Given the description of an element on the screen output the (x, y) to click on. 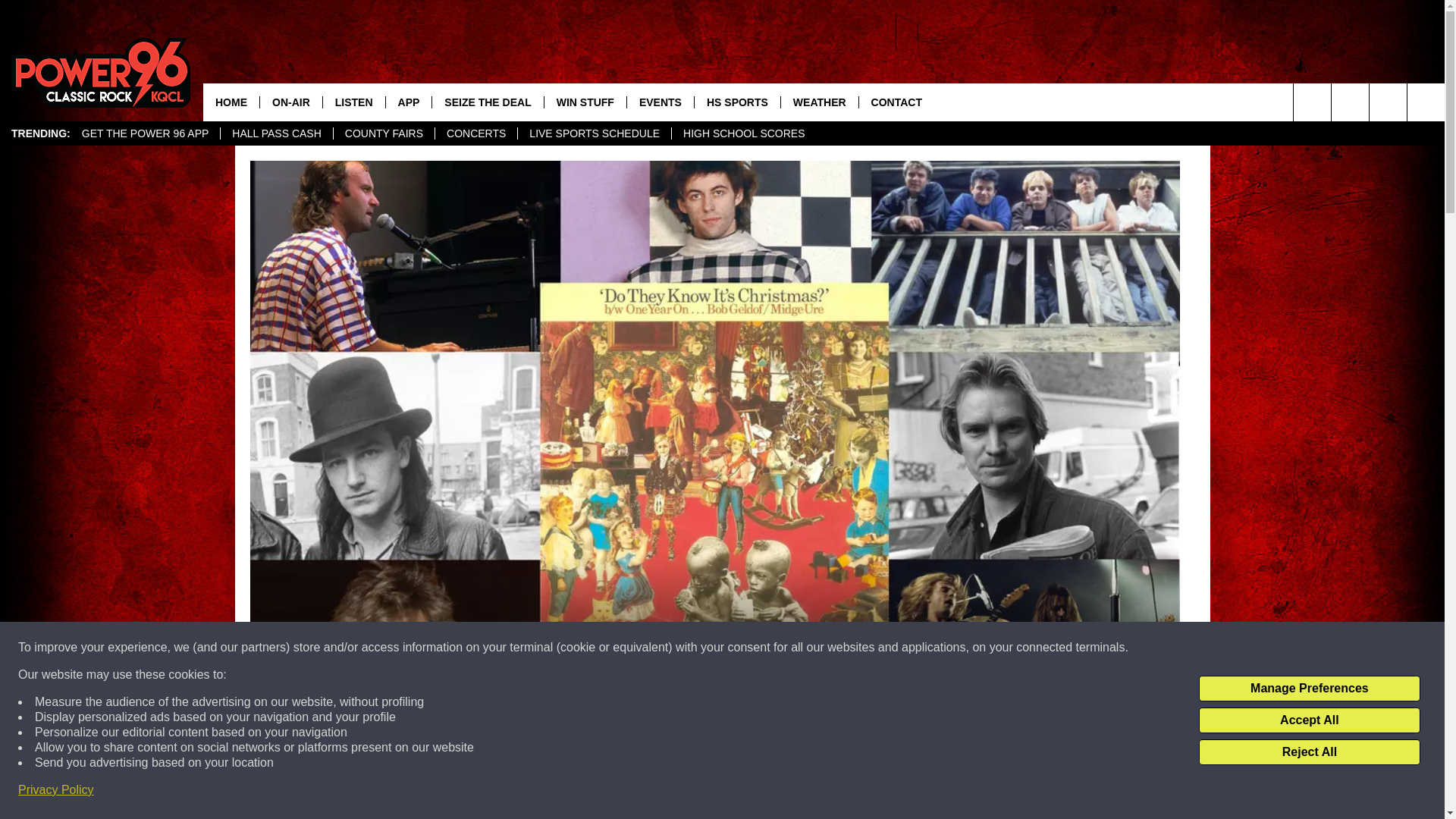
COUNTY FAIRS (383, 133)
CONCERTS (474, 133)
Accept All (1309, 720)
WIN STUFF (584, 102)
APP (408, 102)
GET THE POWER 96 APP (145, 133)
LIVE SPORTS SCHEDULE (593, 133)
EVENTS (660, 102)
Privacy Policy (55, 789)
Share on Facebook (517, 791)
HS SPORTS (737, 102)
Manage Preferences (1309, 688)
ON-AIR (290, 102)
HALL PASS CASH (276, 133)
HOME (231, 102)
